Given the description of an element on the screen output the (x, y) to click on. 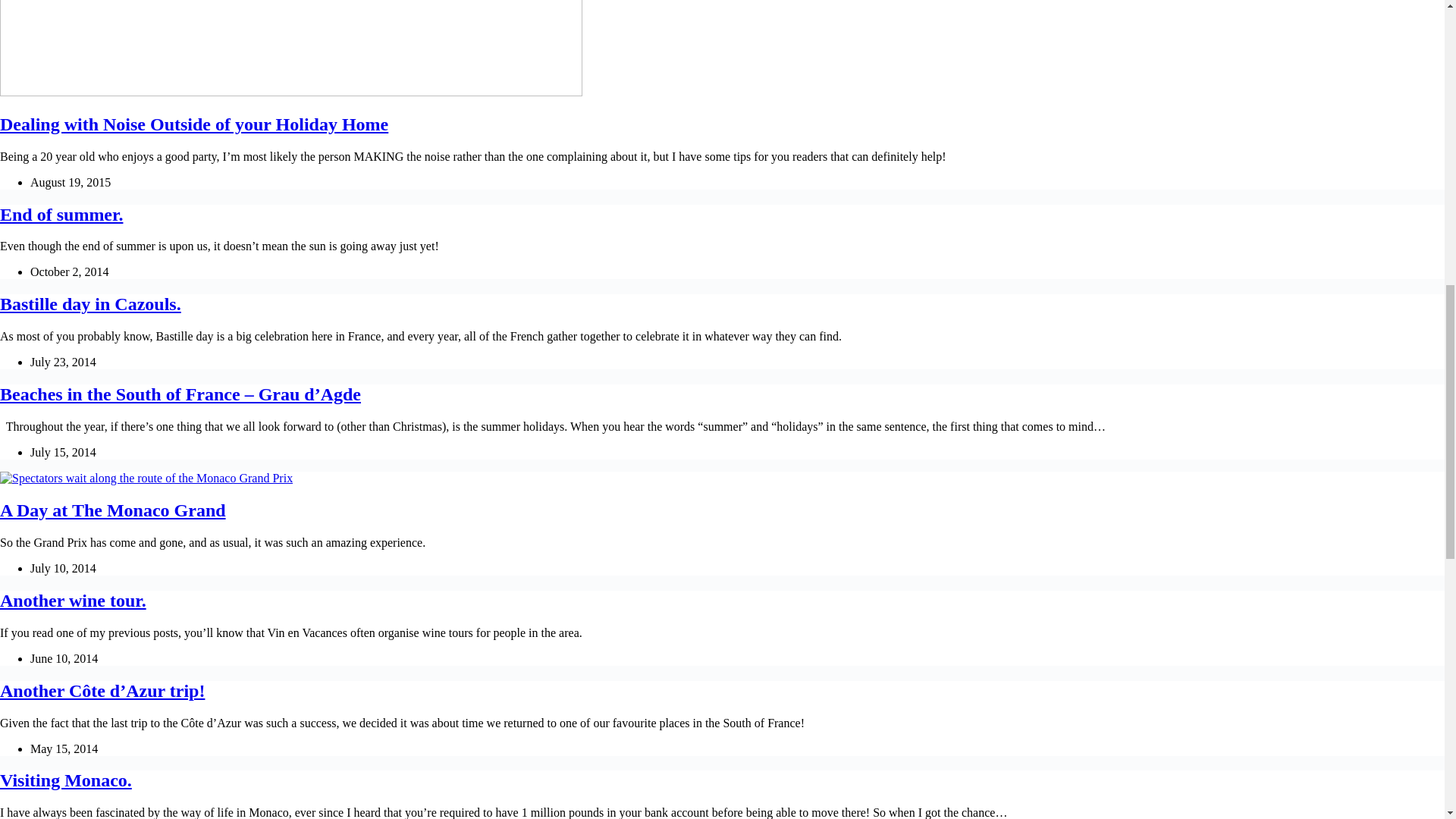
A Day at The Monaco Grand (112, 510)
End of summer. (61, 214)
Visiting Monaco. (66, 780)
Bastille day in Cazouls. (90, 303)
Dealing with Noise Outside of your Holiday Home (194, 124)
Another wine tour. (73, 600)
